Given the description of an element on the screen output the (x, y) to click on. 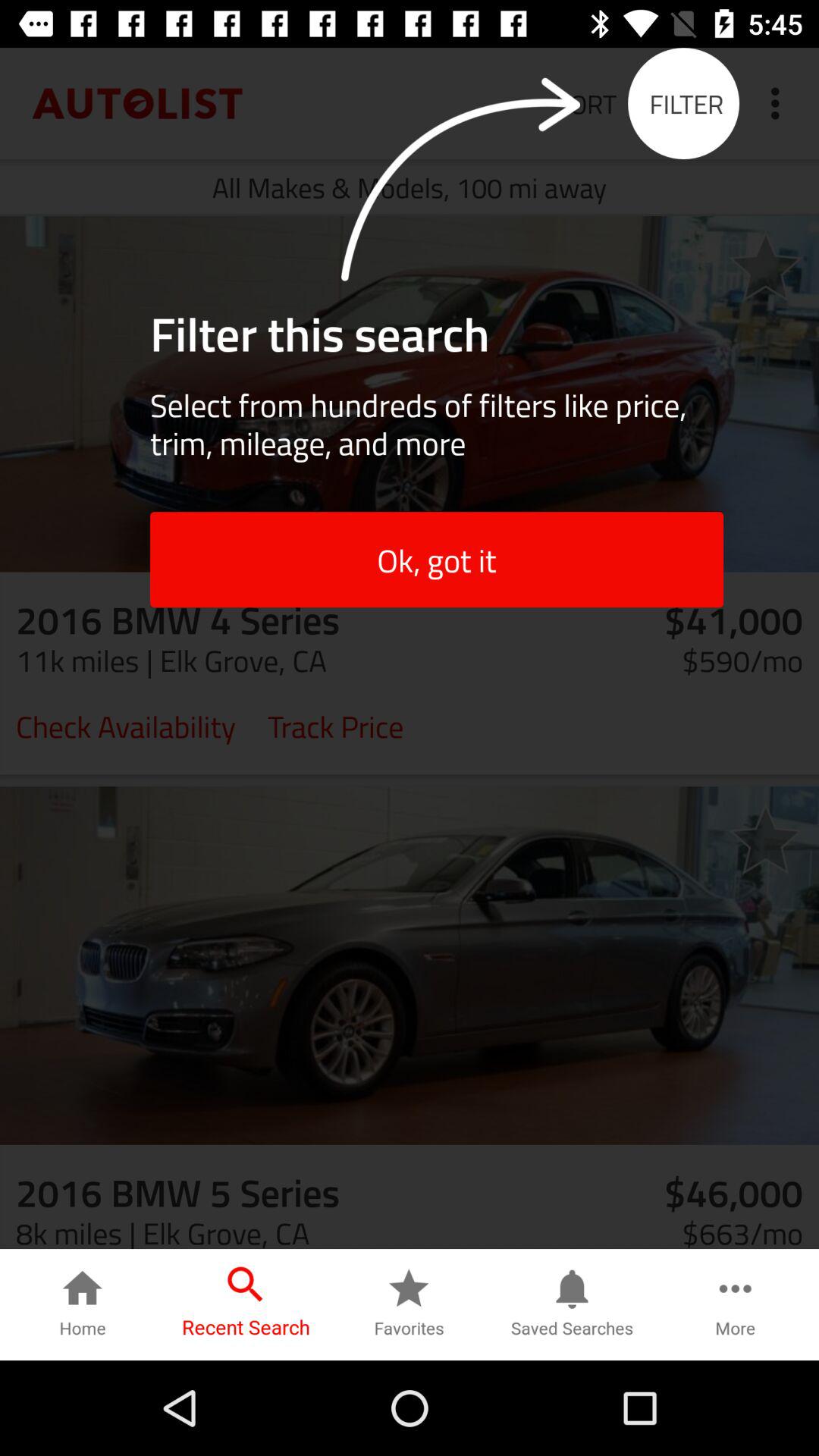
flip to the sort item (585, 103)
